Given the description of an element on the screen output the (x, y) to click on. 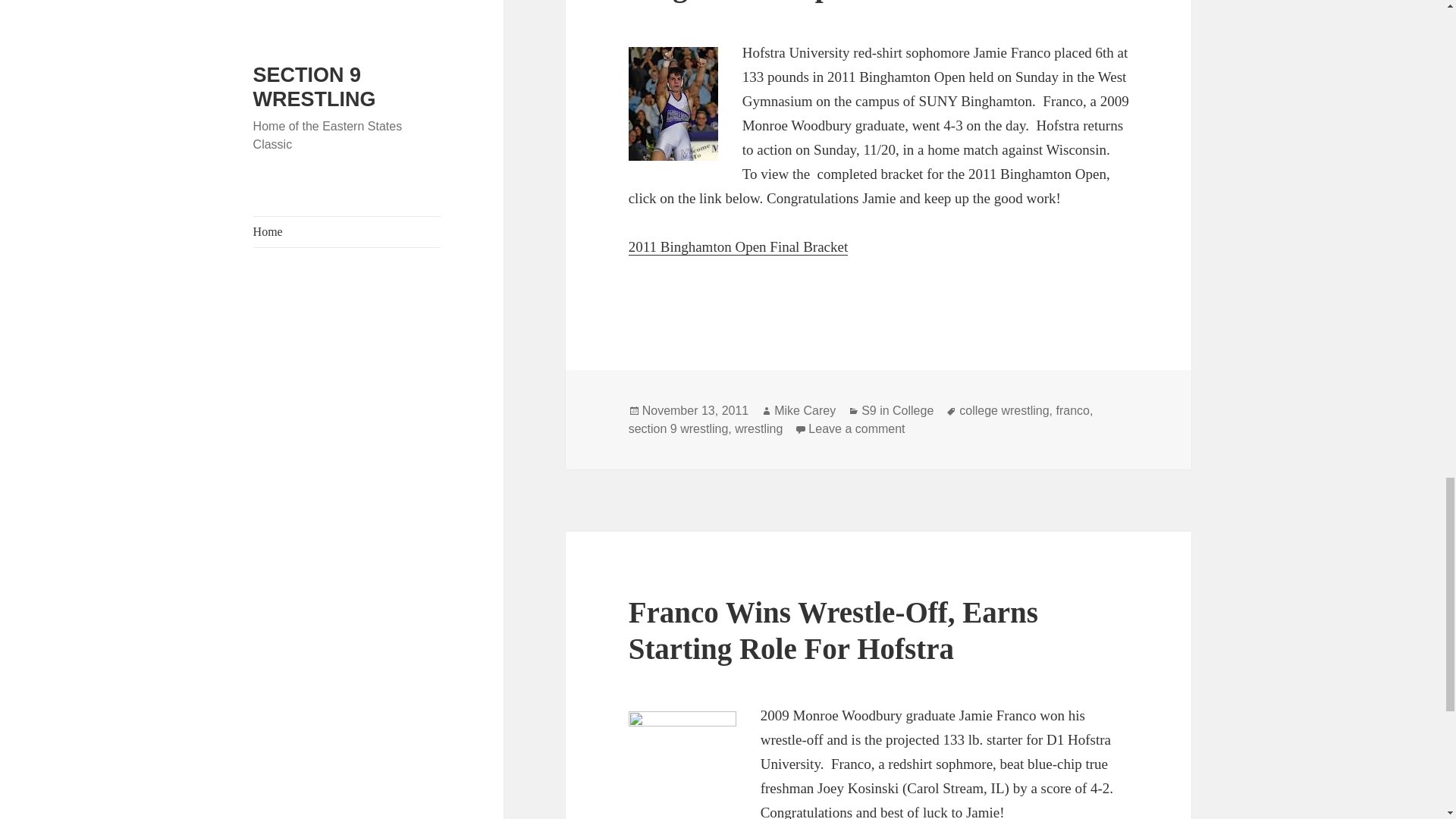
November 13, 2011 (695, 410)
S9 in College (897, 410)
2011 Binghamton Open Final Bracket (738, 247)
Franco (682, 764)
Franco Wins Wrestle-Off, Earns Starting Role For Hofstra (833, 630)
Mike Carey (804, 410)
section 9 wrestling (678, 428)
franco (1072, 410)
wrestling (759, 428)
college wrestling (1003, 410)
